Given the description of an element on the screen output the (x, y) to click on. 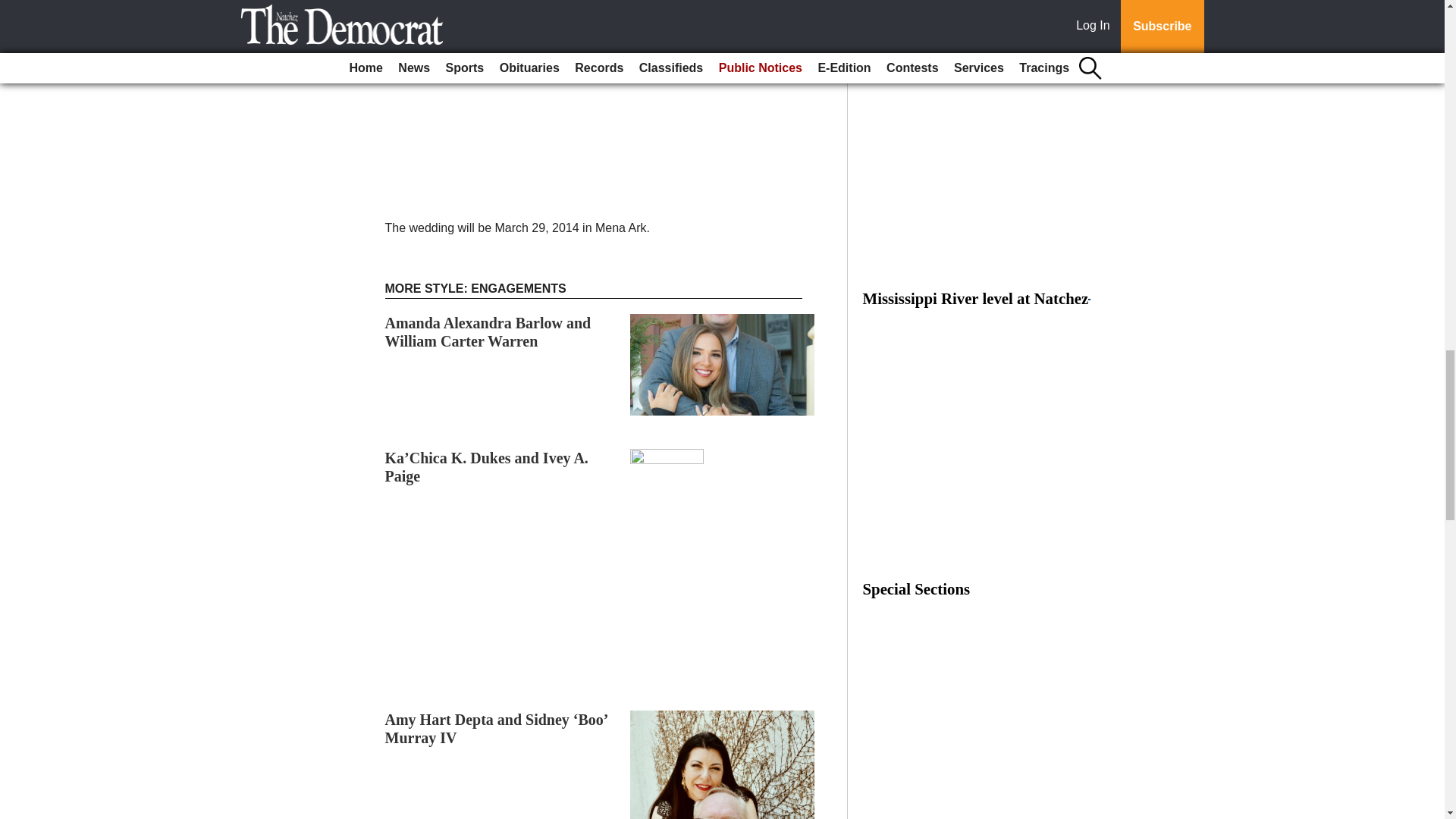
   Vote    (975, 6)
View Results Of This Poll (975, 30)
Amanda Alexandra Barlow and William Carter Warren (488, 331)
Amanda Alexandra Barlow and William Carter Warren (488, 331)
